Given the description of an element on the screen output the (x, y) to click on. 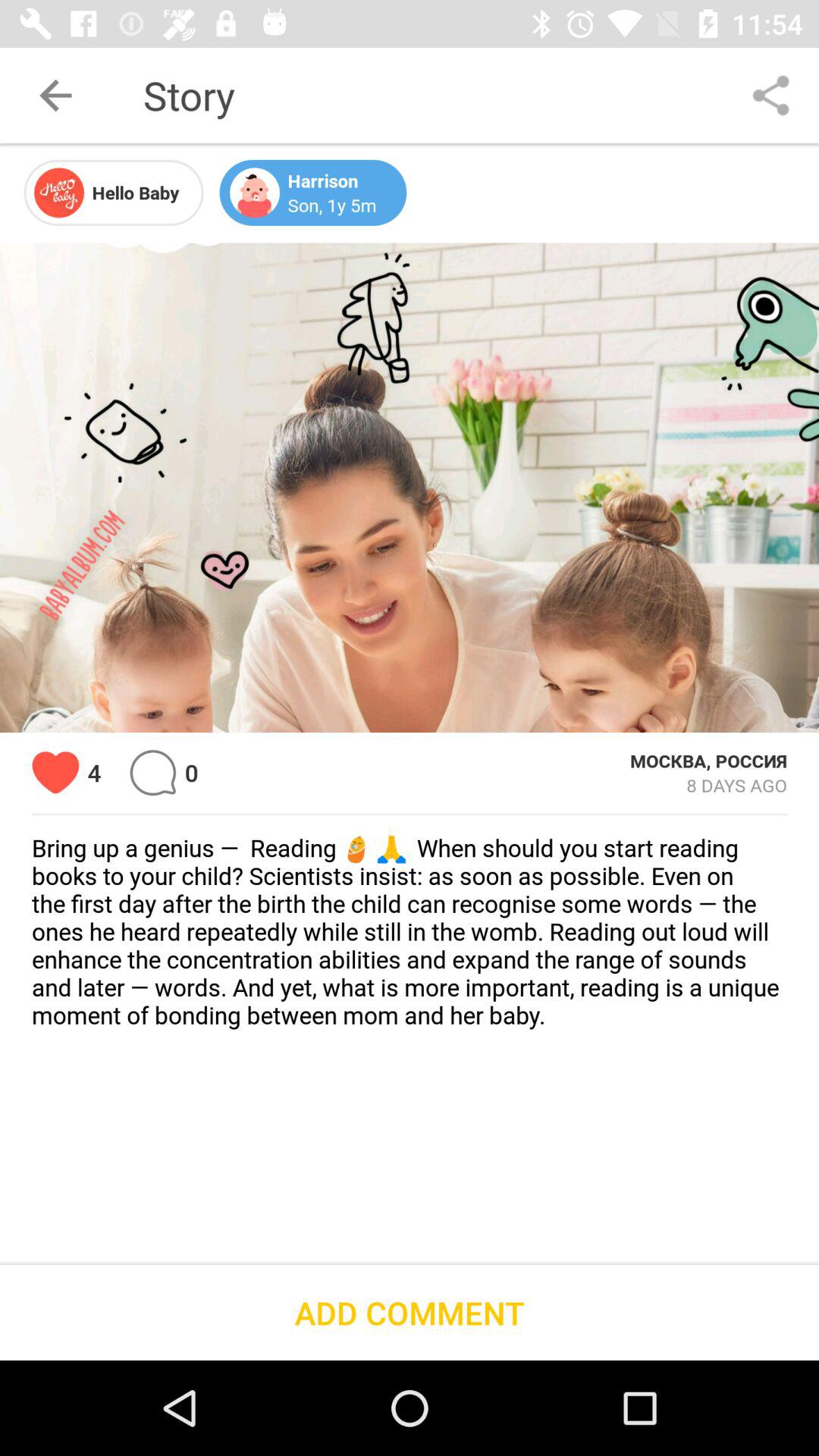
choose the item to the right of story icon (771, 95)
